Given the description of an element on the screen output the (x, y) to click on. 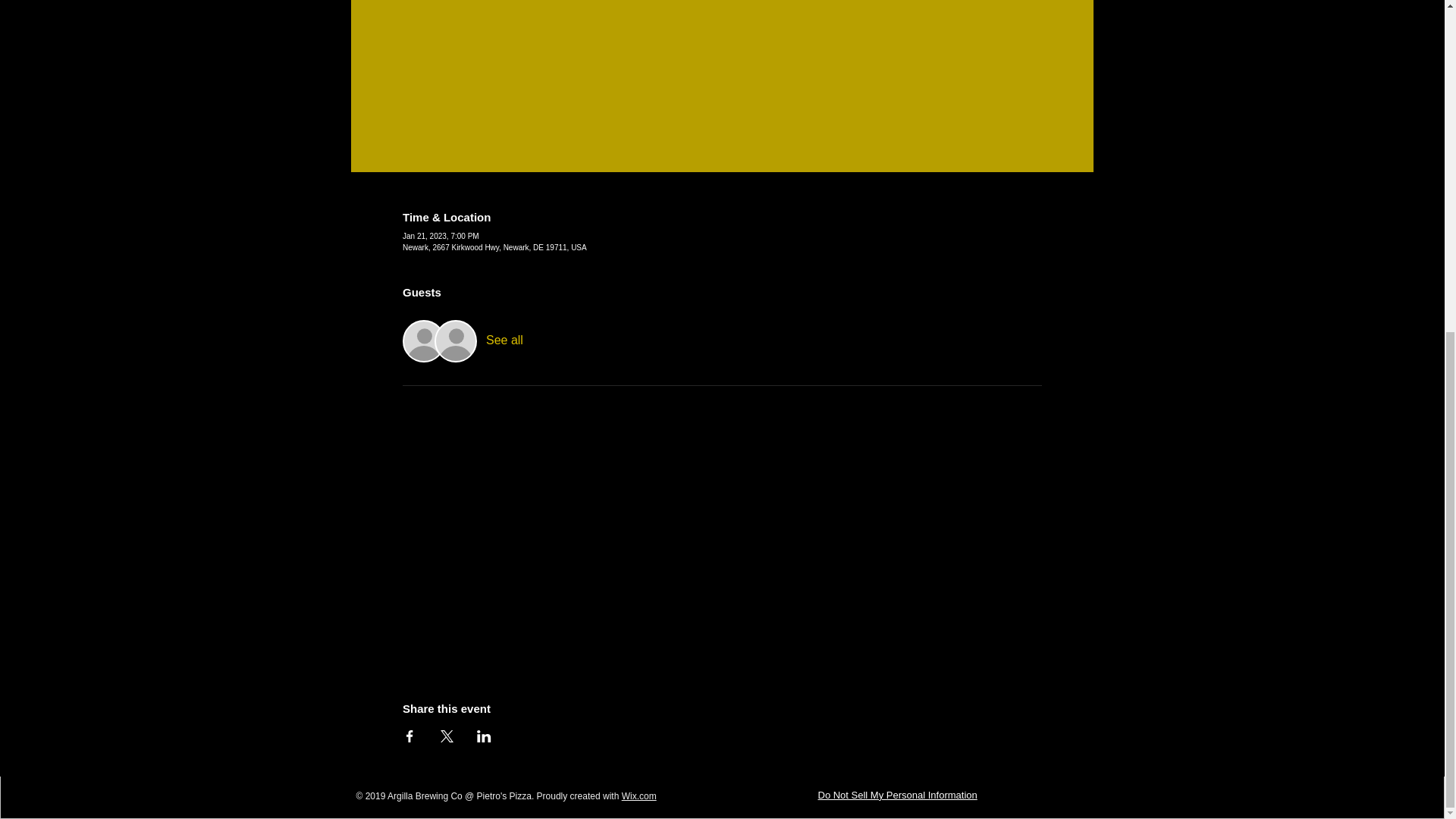
Wix.com (638, 796)
See all (504, 340)
Do Not Sell My Personal Information (896, 795)
